Given the description of an element on the screen output the (x, y) to click on. 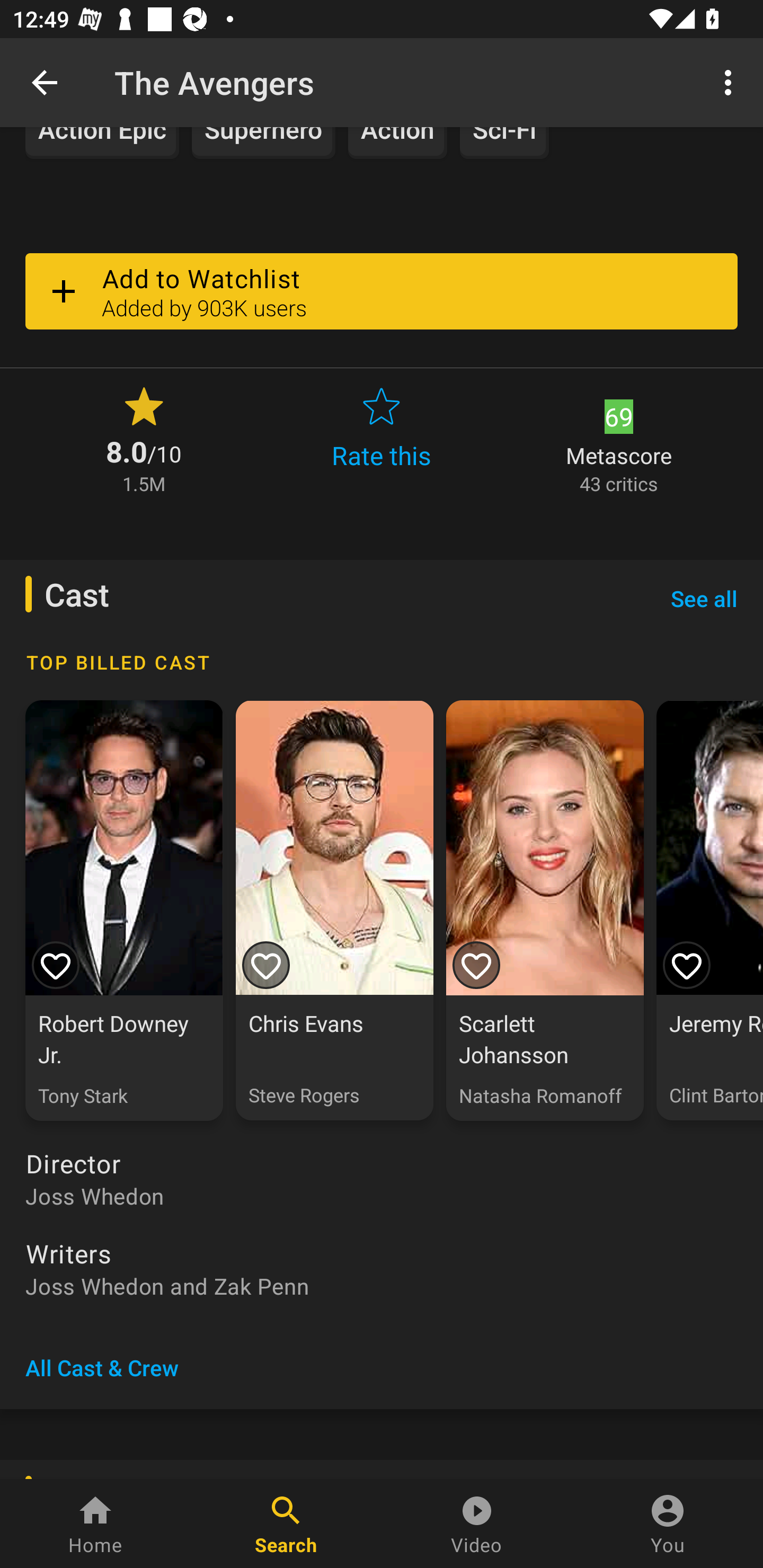
More options (731, 81)
Add to Watchlist Added by 903K users (381, 290)
8.0 /10 1.5M (143, 439)
Rate this (381, 439)
69 Metascore 43 critics (618, 439)
See all See all Cast (703, 597)
Robert Downey Jr. Tony Stark (123, 910)
Chris Evans Steve Rogers (334, 910)
Scarlett Johansson Natasha Romanoff (544, 910)
Joss Whedon (381, 1195)
Joss Whedon and Zak Penn (381, 1285)
All Cast & Crew (101, 1368)
Home (95, 1523)
Video (476, 1523)
You (667, 1523)
